Given the description of an element on the screen output the (x, y) to click on. 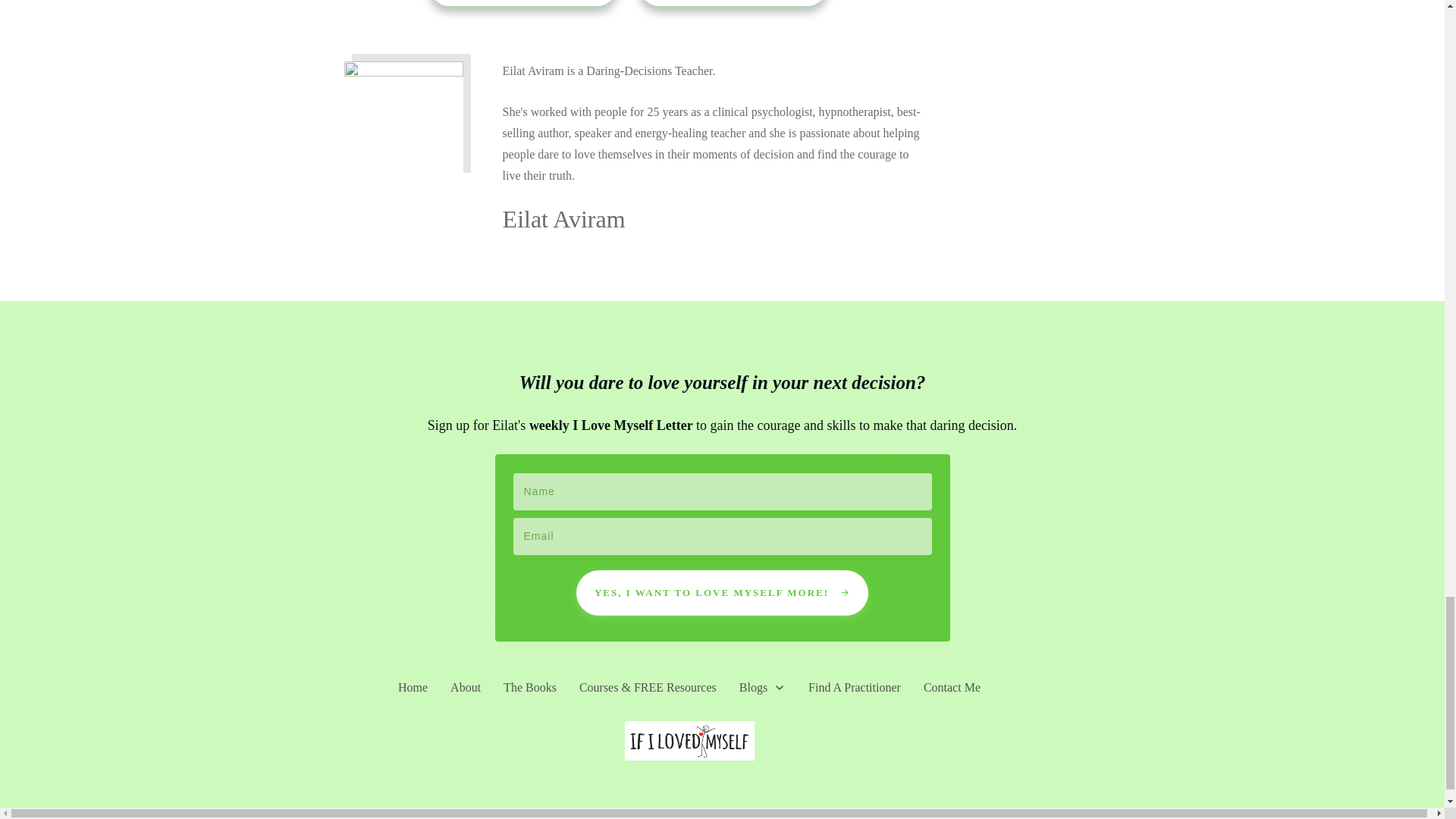
typorama-14 (403, 120)
About (464, 687)
YES, I WANT TO LOVE MYSELF MORE! (721, 592)
Blogs (762, 687)
The Books (529, 687)
Home (412, 687)
Next Article (733, 3)
Previous Article (522, 3)
